Given the description of an element on the screen output the (x, y) to click on. 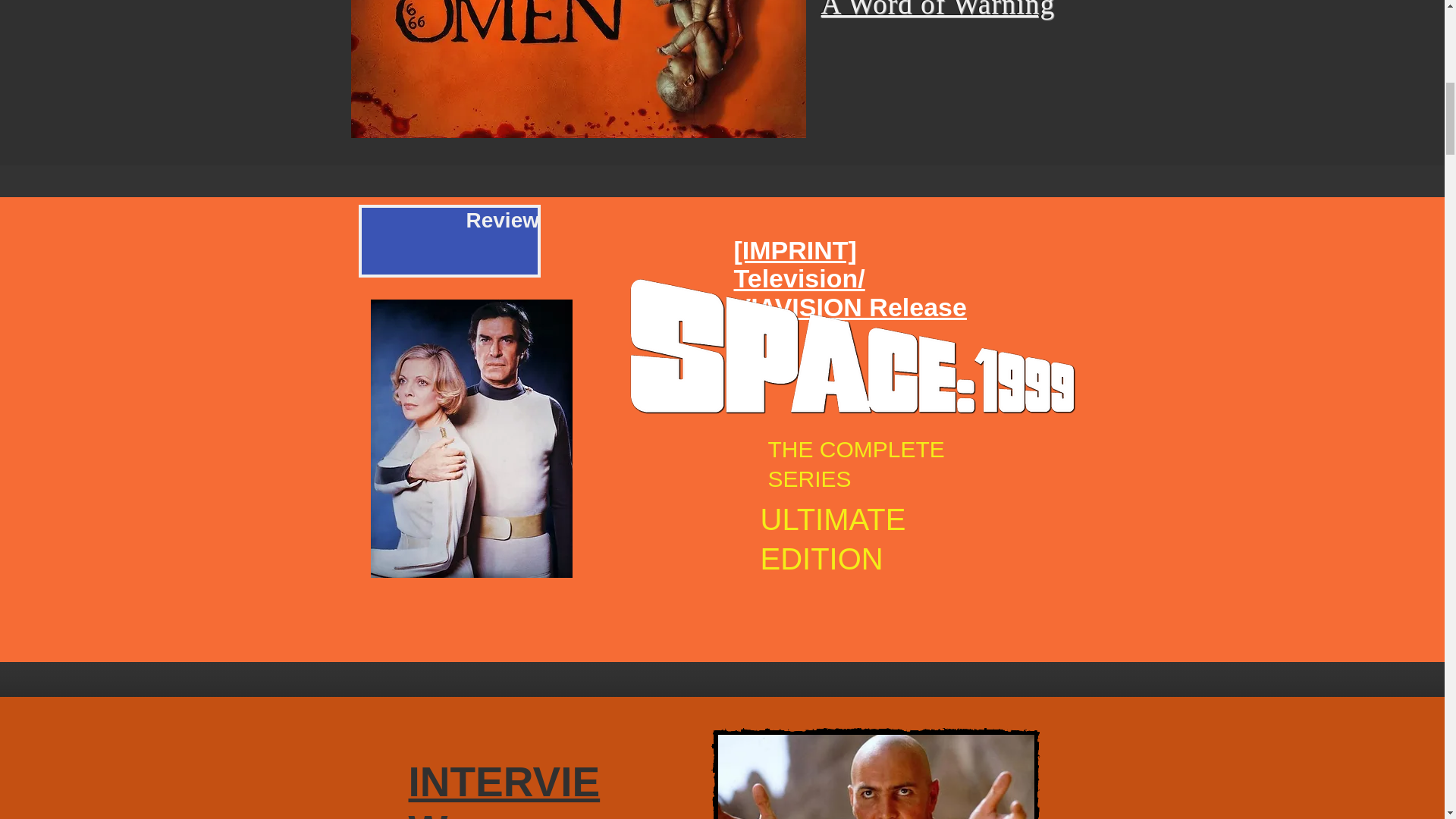
INTERVIEW (503, 788)
A Word of Warning (937, 9)
